Given the description of an element on the screen output the (x, y) to click on. 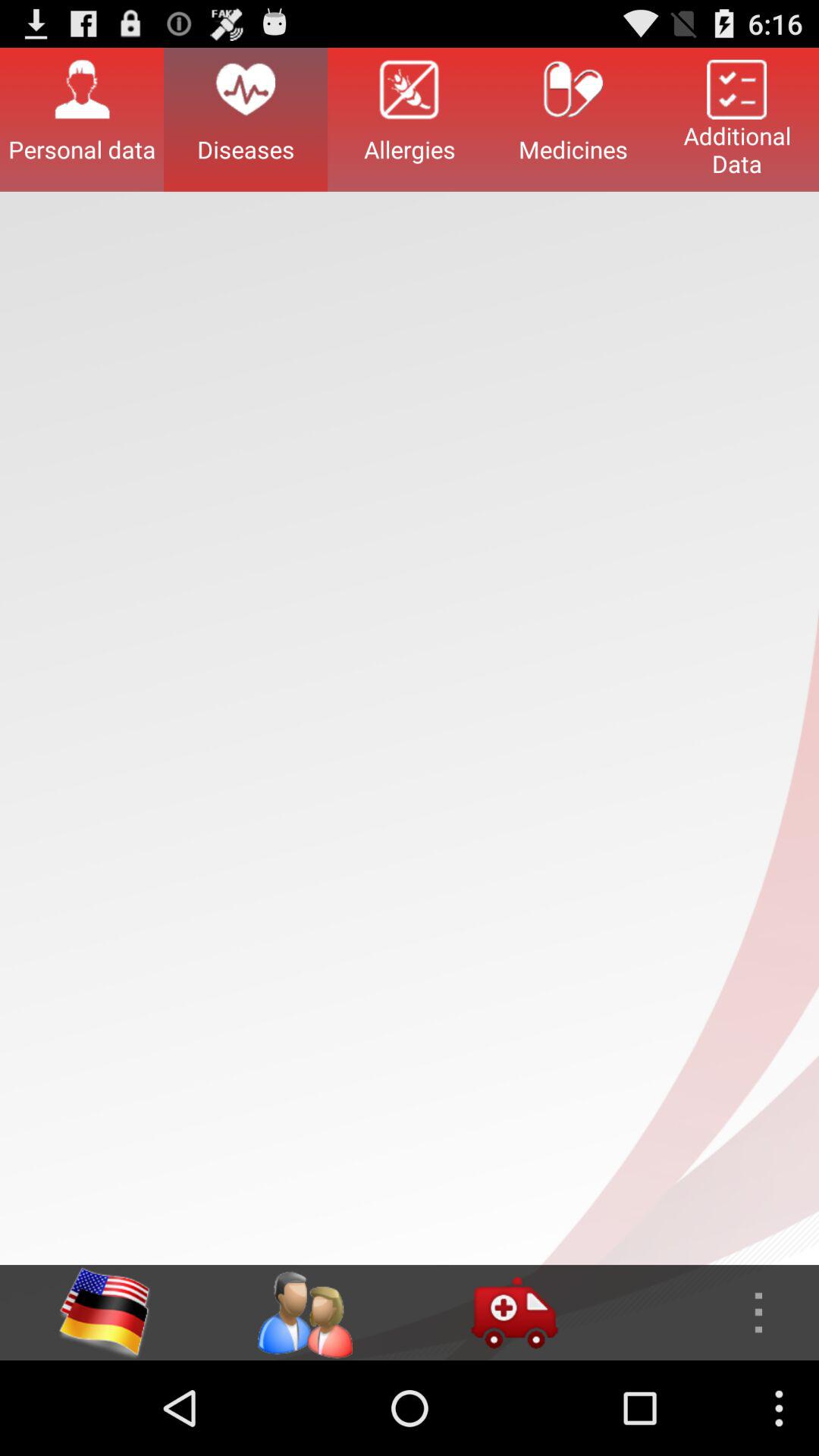
tap icon next to the allergies icon (245, 119)
